Given the description of an element on the screen output the (x, y) to click on. 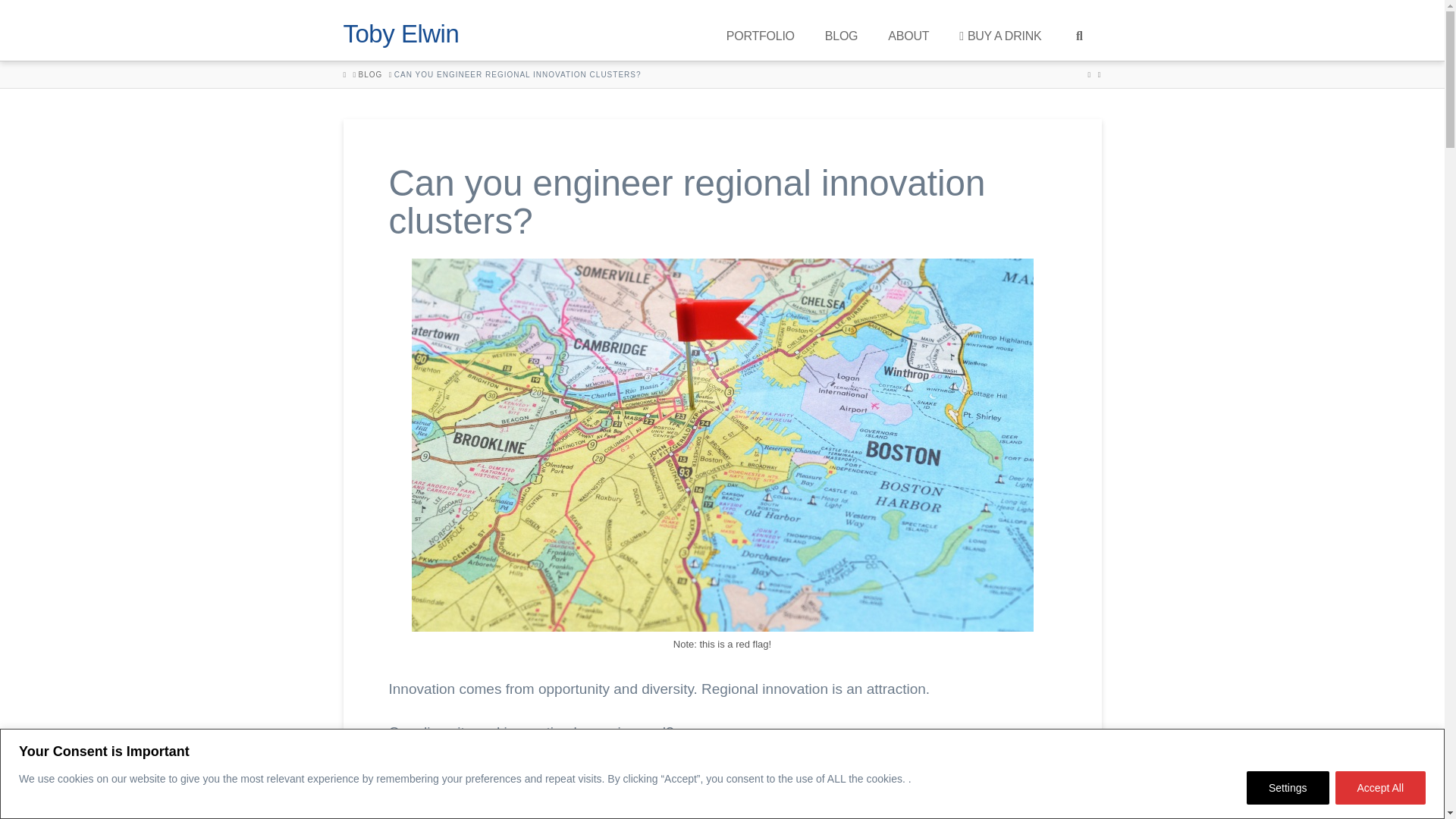
BLOG (370, 74)
You Are Here (518, 74)
Read More (48, 796)
PORTFOLIO (760, 30)
Settings (1287, 786)
A professional brief on Toby Elwin (907, 30)
Professional designs (760, 30)
BUY A DRINK (1000, 30)
Accept All (1380, 786)
Something good? Buy Toby a drink with PayPal (1000, 30)
